Given the description of an element on the screen output the (x, y) to click on. 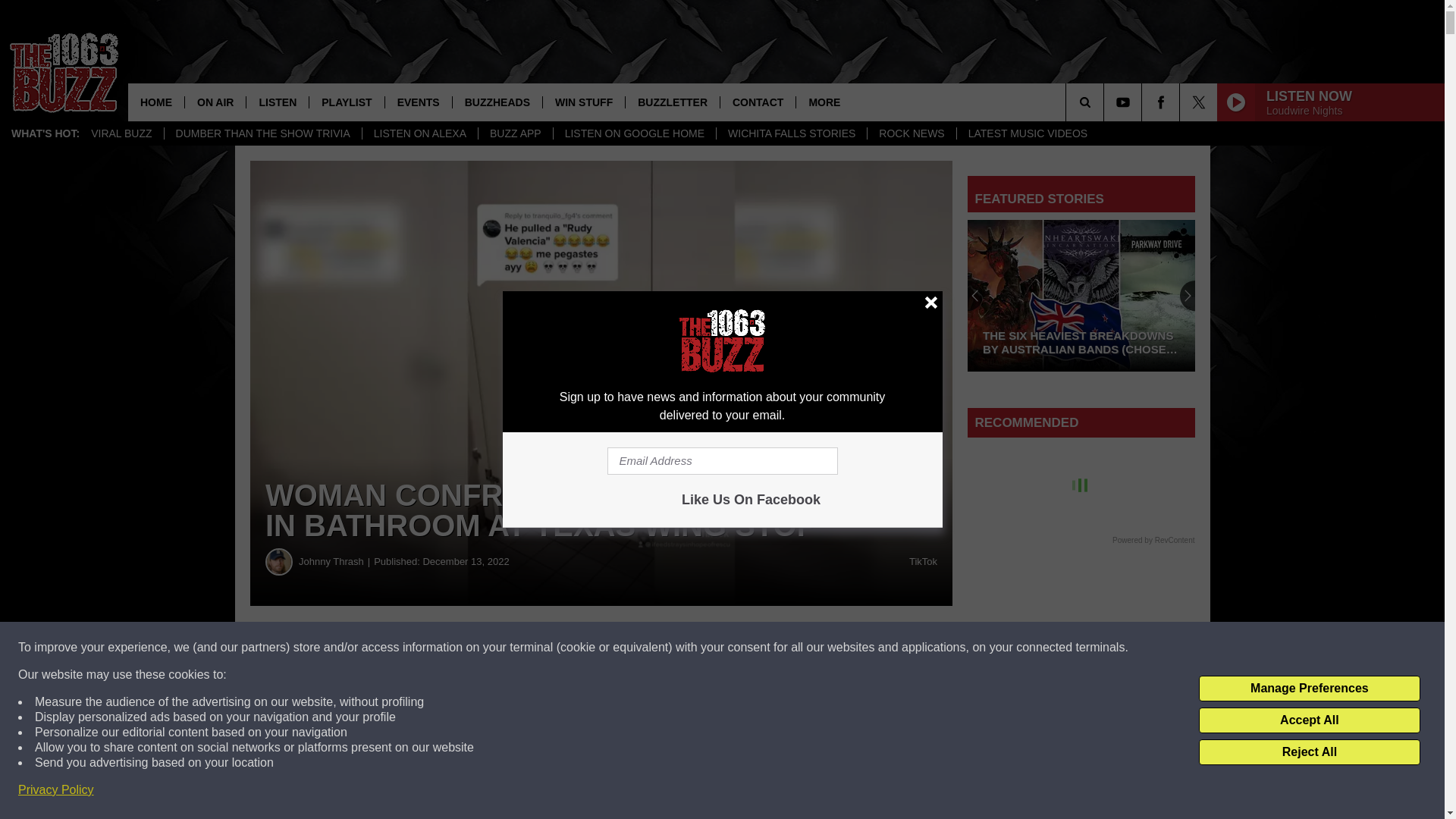
Reject All (1309, 751)
LISTEN ON ALEXA (419, 133)
SEARCH (1106, 102)
LISTEN (277, 102)
LATEST MUSIC VIDEOS (1027, 133)
WICHITA FALLS STORIES (791, 133)
ROCK NEWS (910, 133)
HOME (156, 102)
BUZZHEADS (496, 102)
VIRAL BUZZ (121, 133)
Manage Preferences (1309, 688)
LISTEN ON GOOGLE HOME (634, 133)
Share on Facebook (460, 647)
Privacy Policy (55, 789)
ON AIR (215, 102)
